Given the description of an element on the screen output the (x, y) to click on. 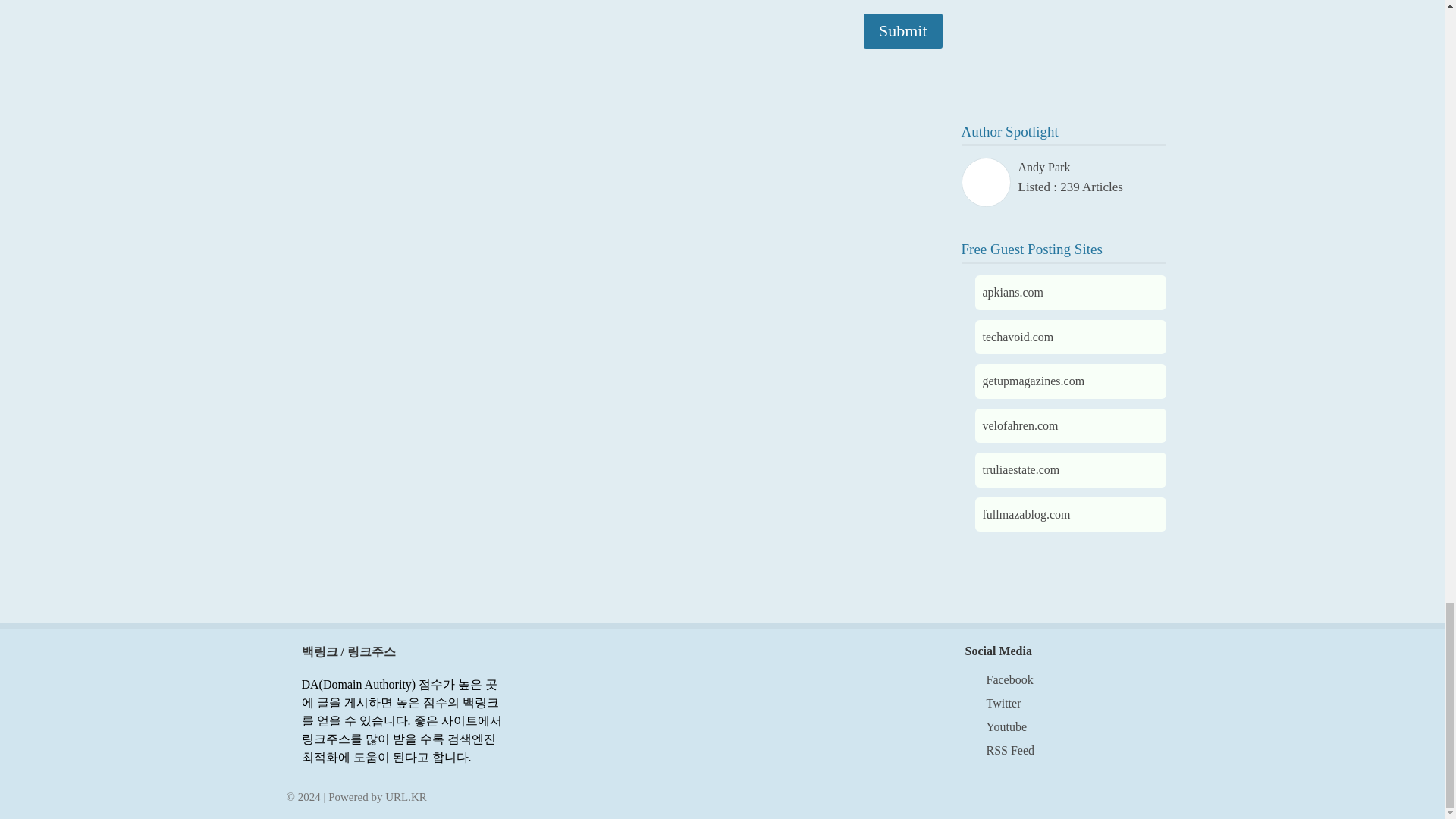
Submit (902, 30)
Submit (902, 30)
